Given the description of an element on the screen output the (x, y) to click on. 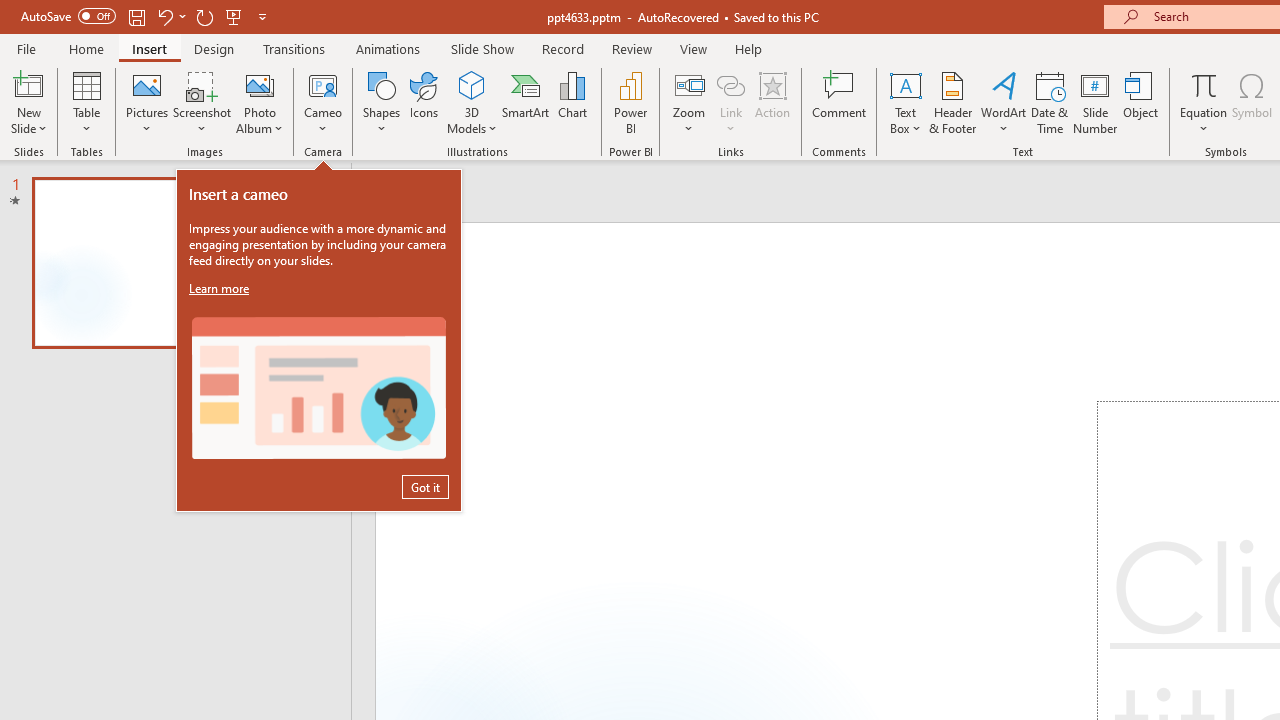
Equation (1203, 102)
WordArt (1004, 102)
Icons (424, 102)
Symbol... (1252, 102)
Link (731, 84)
Equation (1203, 84)
Insert a cameo (318, 387)
Photo Album... (259, 102)
